Given the description of an element on the screen output the (x, y) to click on. 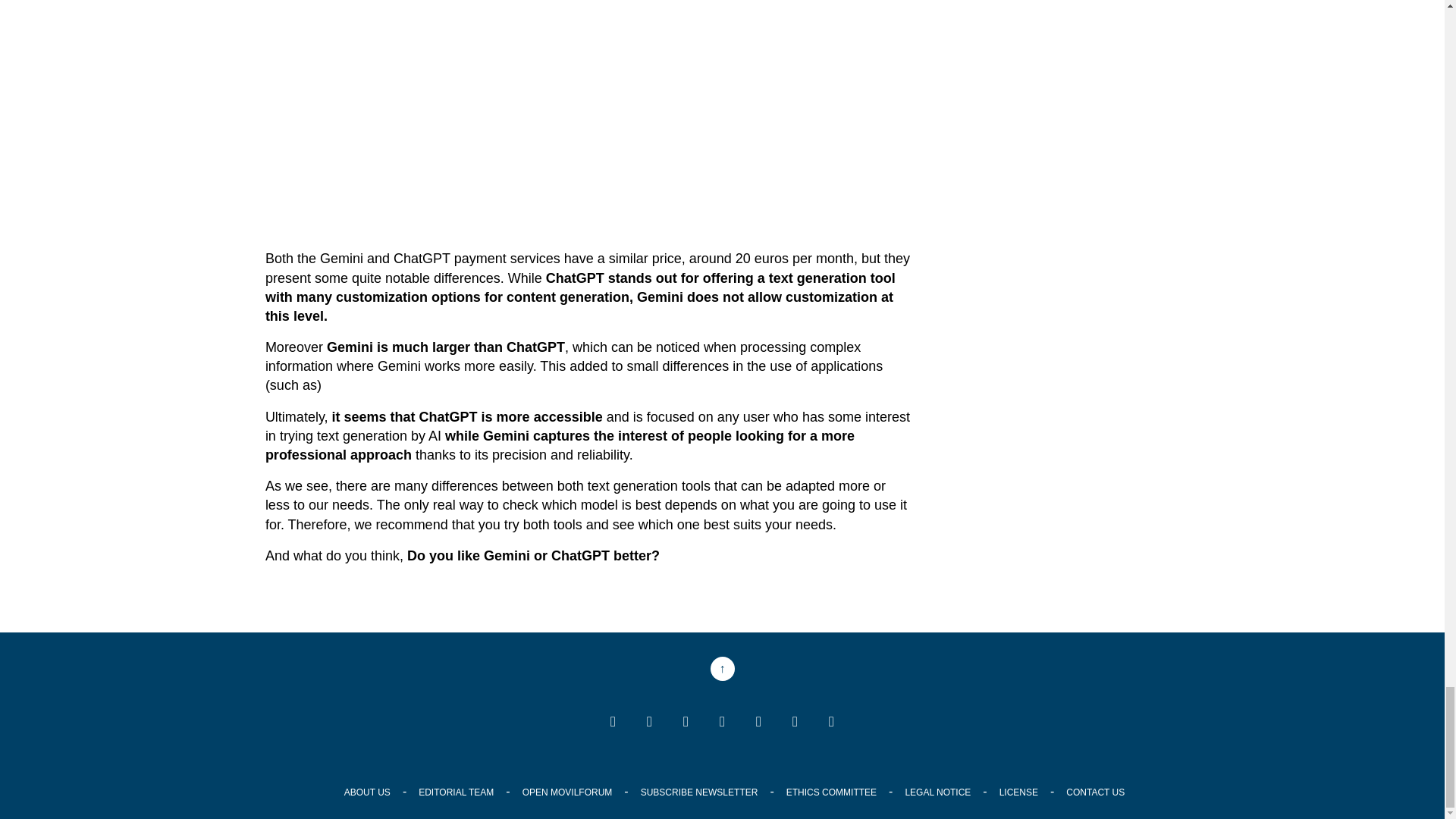
ABOUT US (366, 792)
PINTEREST (757, 723)
RSS (794, 723)
CONTACT US (1094, 792)
YOUTUBE (684, 723)
FACEBOOK (611, 723)
SUBSCRIBE NEWSLETTER (830, 723)
TWITTER (649, 723)
LICENSE (1018, 792)
EDITORIAL TEAM (456, 792)
OPEN MOVILFORUM (567, 792)
ETHICS COMMITTEE (831, 792)
LEGAL NOTICE (937, 792)
INSTAGRAM (721, 723)
SUBSCRIBE NEWSLETTER (699, 792)
